Given the description of an element on the screen output the (x, y) to click on. 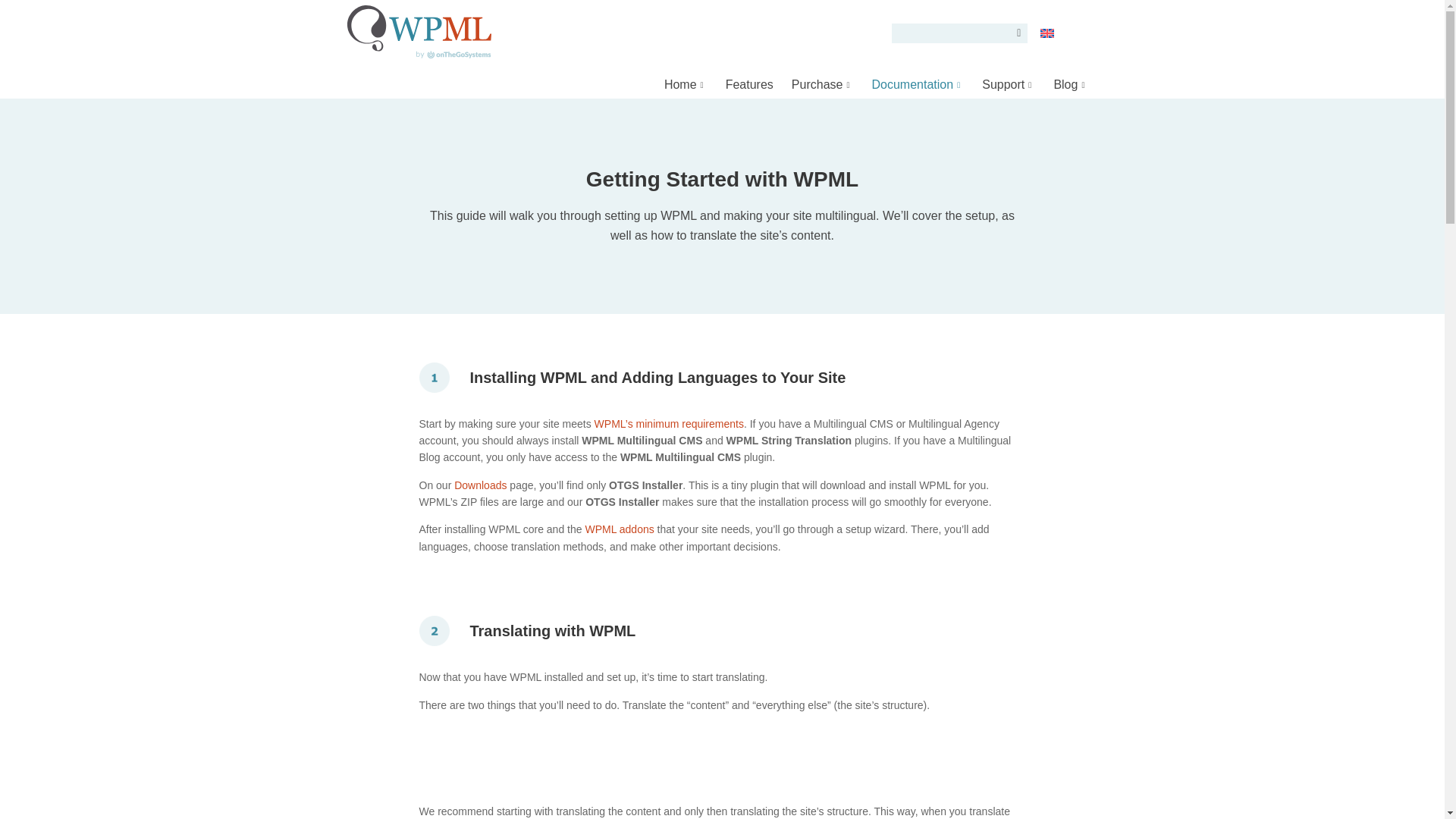
Documentation (918, 84)
Purchase (823, 84)
Home (685, 84)
Search (1015, 33)
Features (749, 84)
Search (1015, 33)
